Given the description of an element on the screen output the (x, y) to click on. 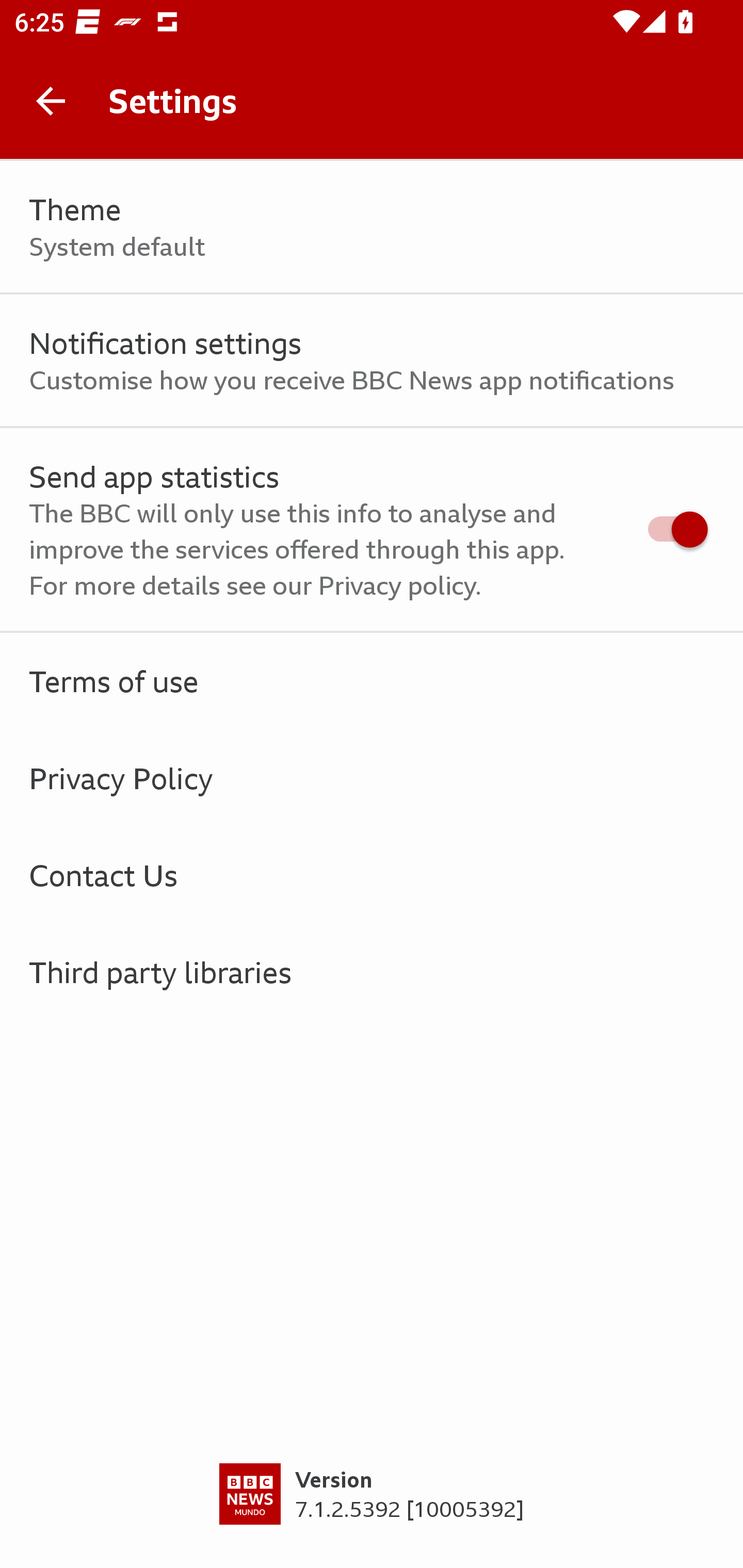
Back (50, 101)
Theme System default (371, 227)
Terms of use (371, 681)
Privacy Policy (371, 777)
Contact Us (371, 874)
Third party libraries (371, 971)
Version 7.1.2.5392 [10005392] (371, 1515)
